Given the description of an element on the screen output the (x, y) to click on. 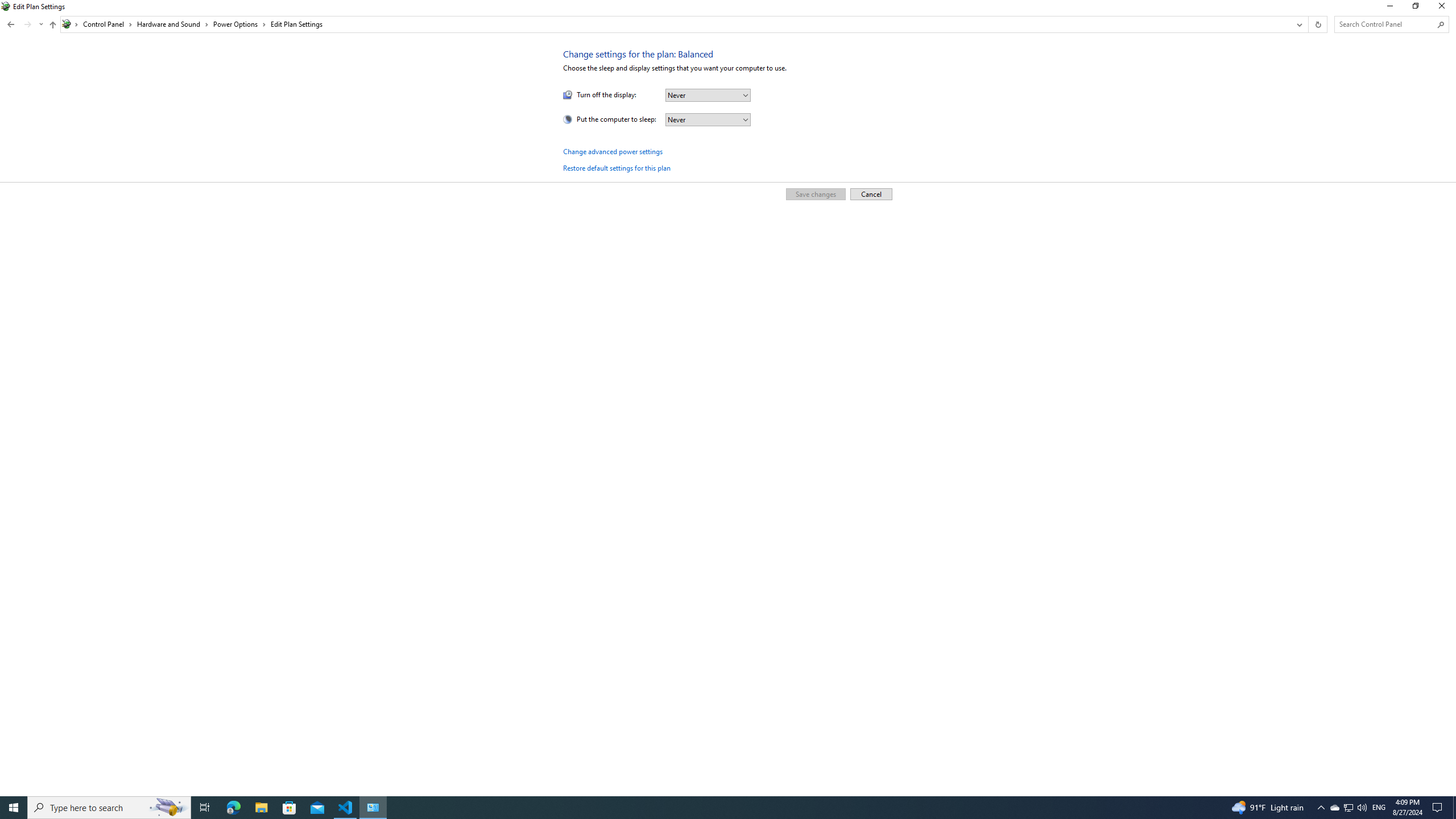
Navigation buttons (24, 23)
Open (745, 119)
All locations (70, 23)
Put the computer to sleep: (Plugged in) (708, 119)
Up band toolbar (52, 26)
Show desktop (1454, 807)
User Promoted Notification Area (1347, 807)
Notification Chevron (1320, 807)
Refresh "Edit Plan Settings" (F5) (1316, 23)
System (6, 6)
Hardware and Sound (173, 23)
Control Panel - 1 running window (373, 807)
Type here to search (108, 807)
Action Center, No new notifications (1439, 807)
Save changes (814, 193)
